Given the description of an element on the screen output the (x, y) to click on. 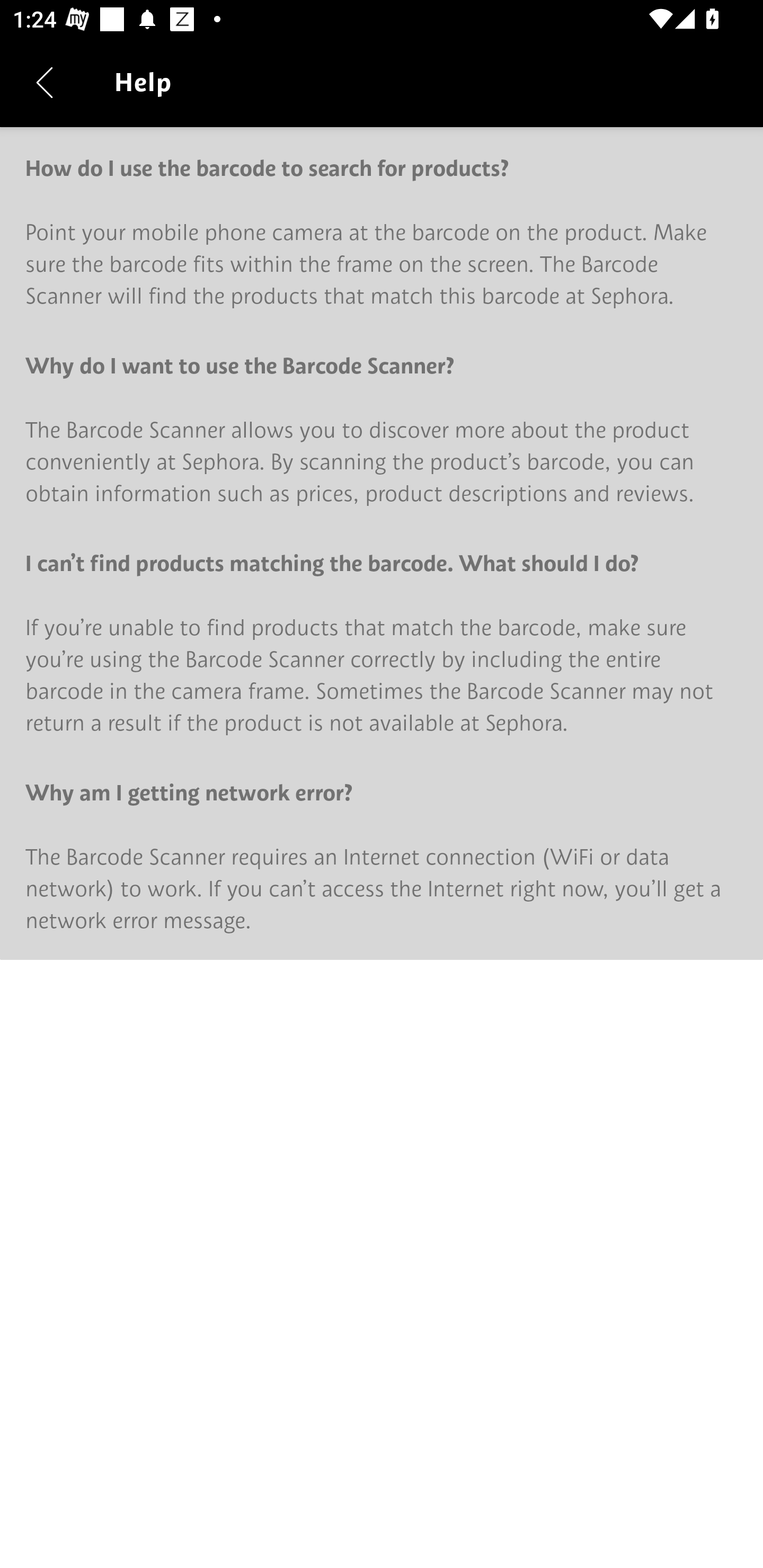
Navigate up (44, 82)
